Given the description of an element on the screen output the (x, y) to click on. 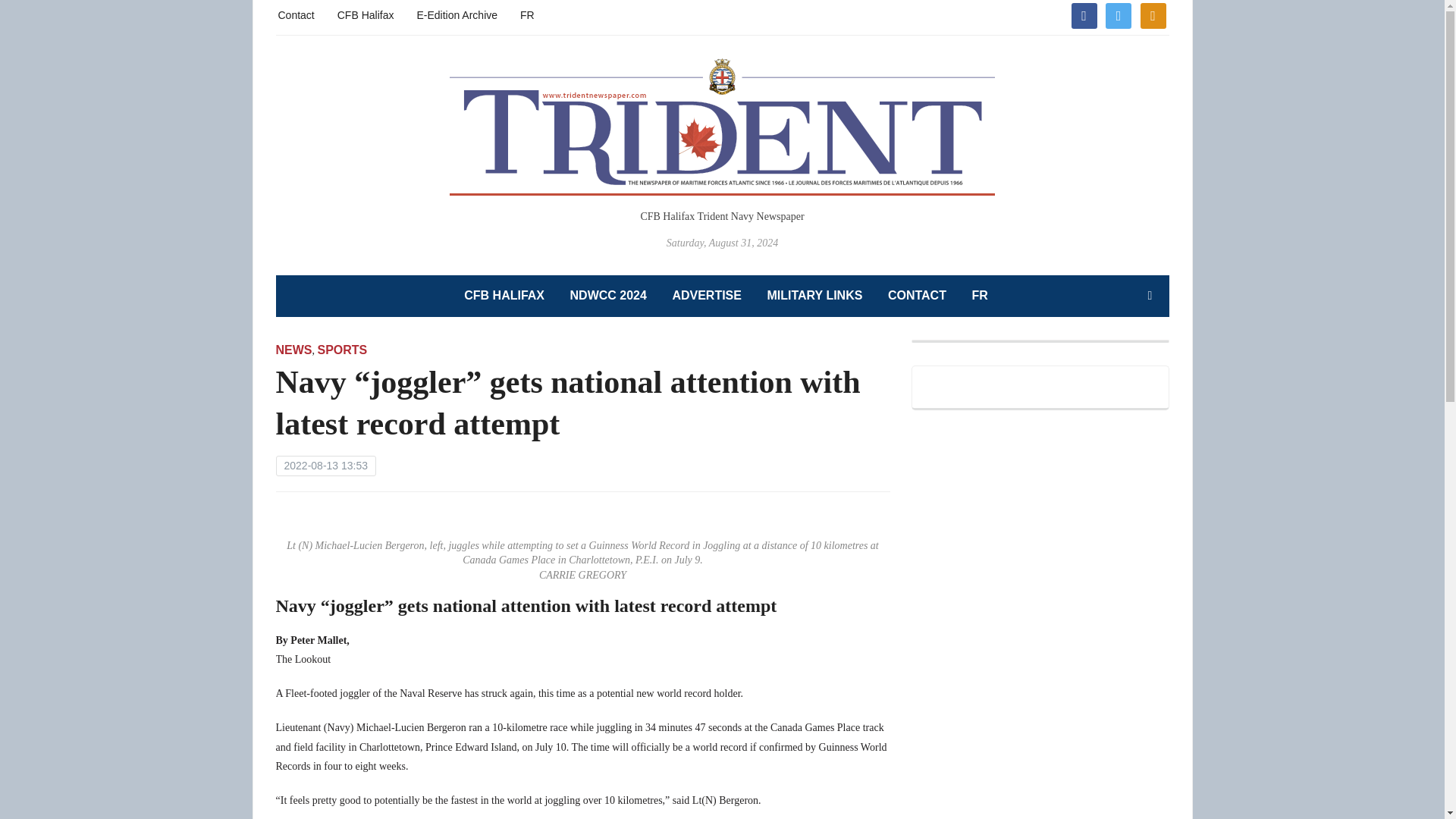
Contact (296, 14)
Follow Me (1118, 14)
rss (1153, 14)
facebook (1083, 14)
CFB Halifax (365, 14)
Friend me on Facebook (1083, 14)
twitter (1118, 14)
E-Edition Archive (456, 14)
